Given the description of an element on the screen output the (x, y) to click on. 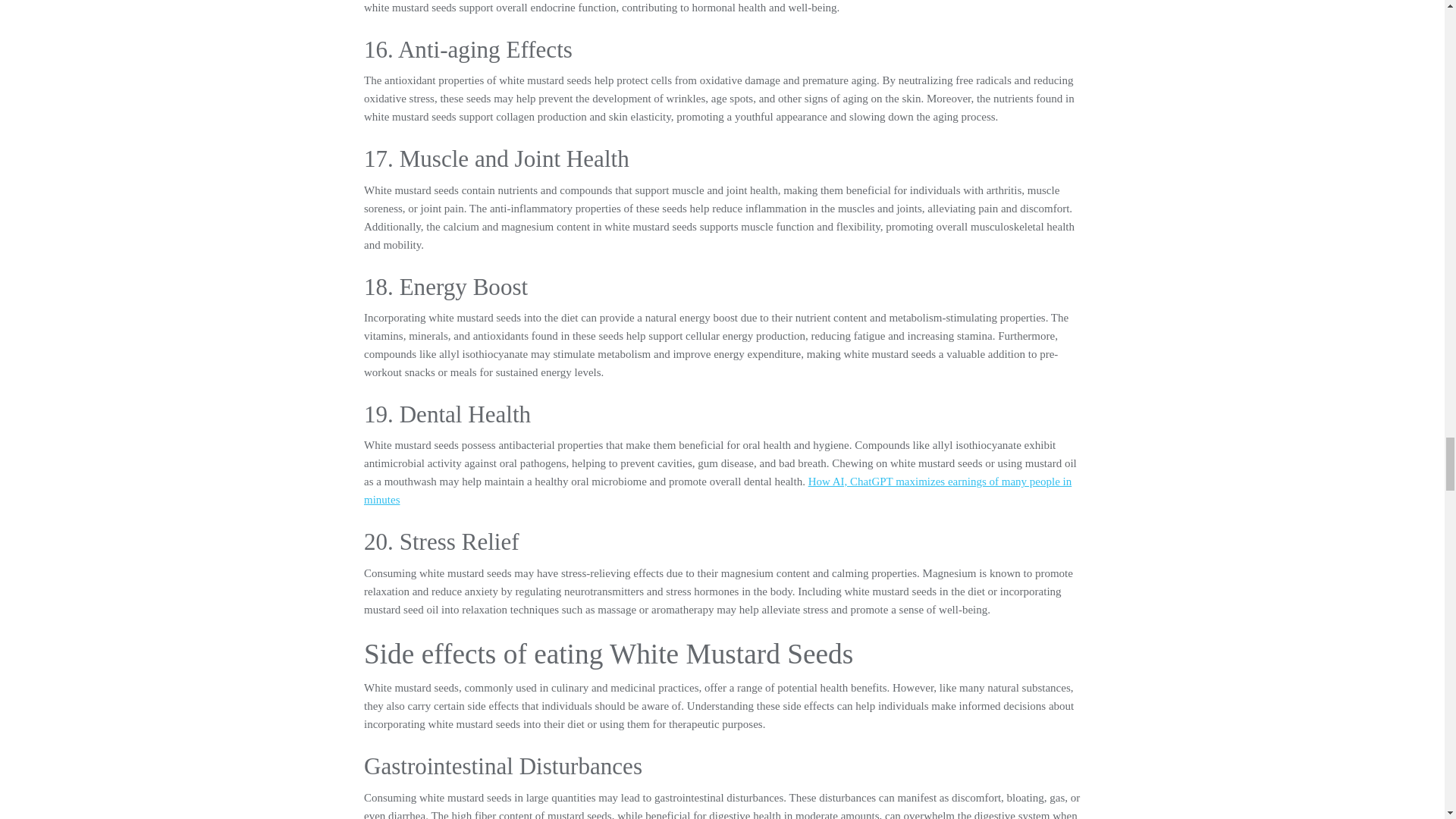
How AI, ChatGPT maximizes earnings of many people in minutes (717, 490)
